Given the description of an element on the screen output the (x, y) to click on. 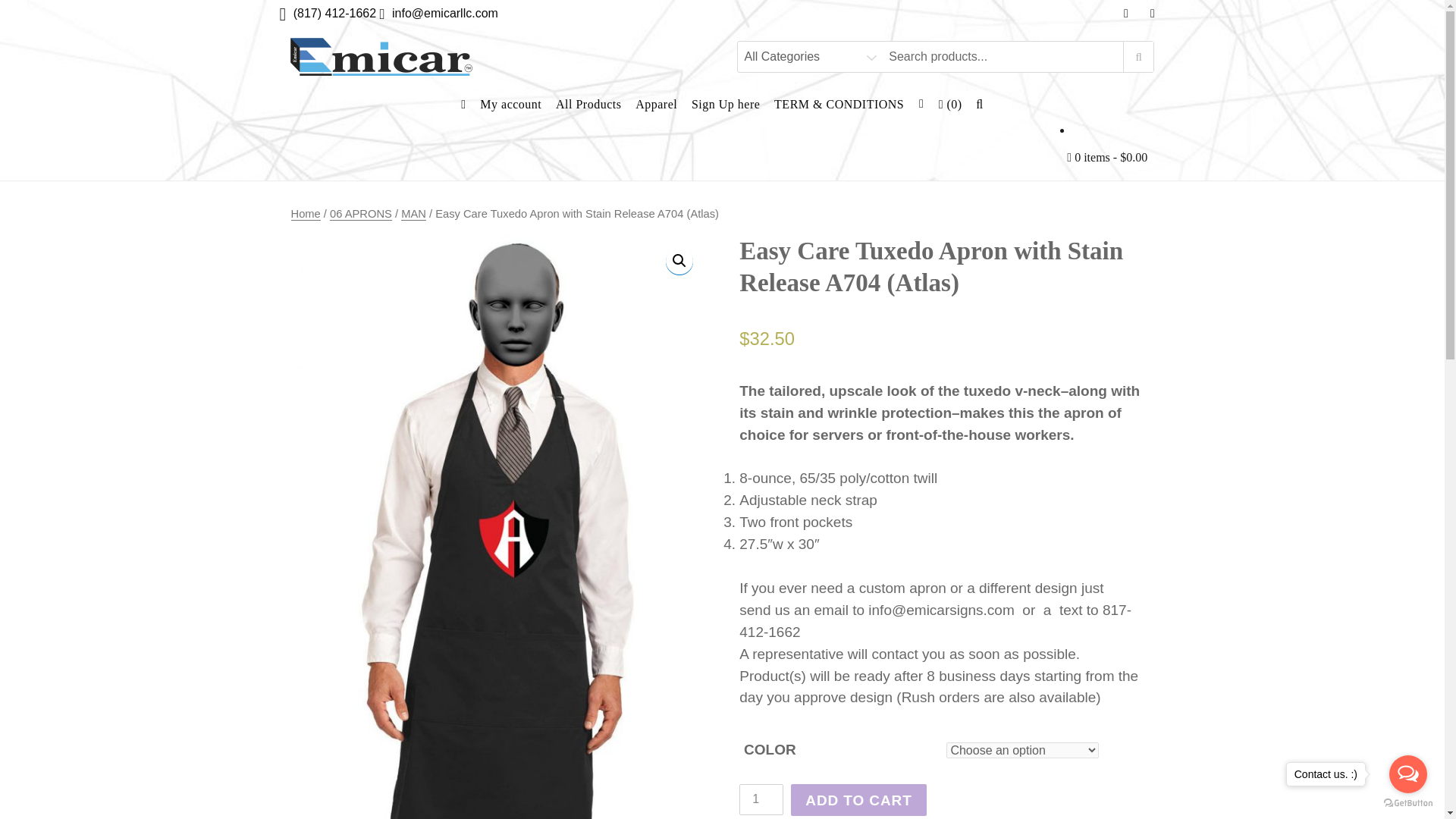
06 APRONS (360, 214)
MAN (413, 214)
ADD TO CART (858, 799)
Sign Up here (725, 103)
Start shopping (1106, 156)
Home (305, 214)
1 (761, 798)
Facebook (1126, 13)
My account (510, 103)
All Products (588, 103)
Apparel (656, 103)
Instagram (1152, 13)
